Given the description of an element on the screen output the (x, y) to click on. 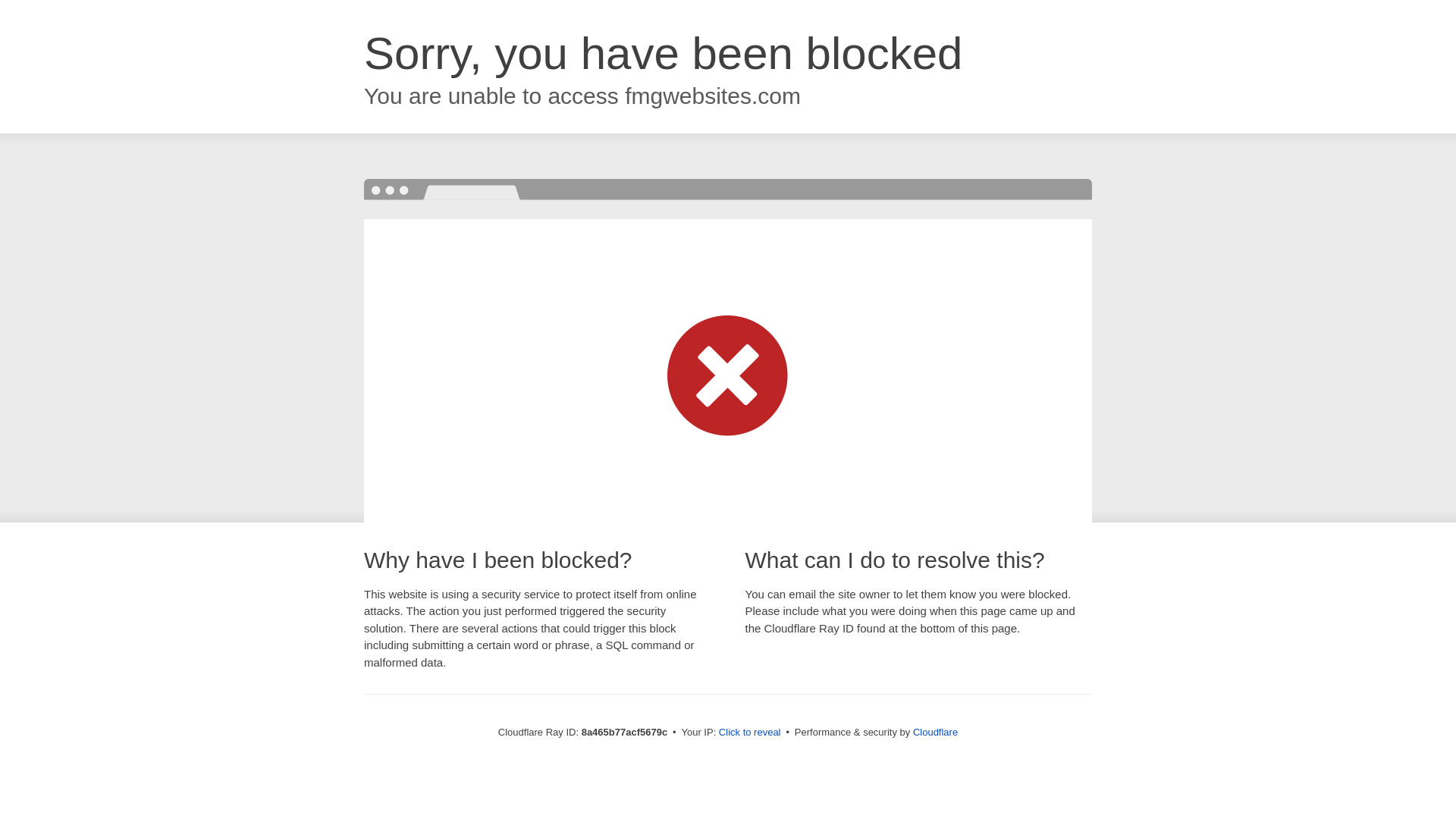
Click to reveal (749, 732)
Cloudflare (935, 731)
